Given the description of an element on the screen output the (x, y) to click on. 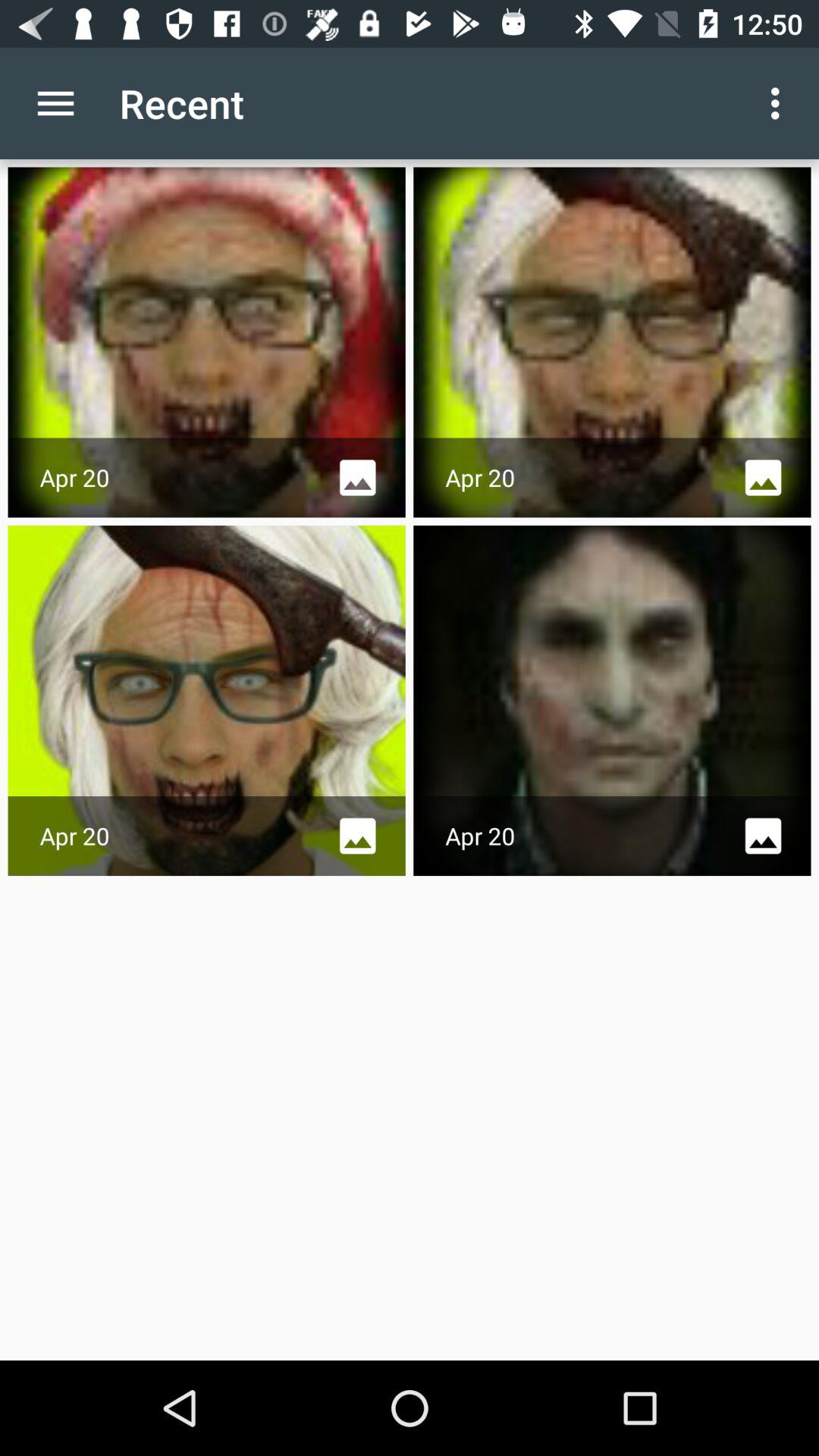
click the item next to the recent item (55, 103)
